Given the description of an element on the screen output the (x, y) to click on. 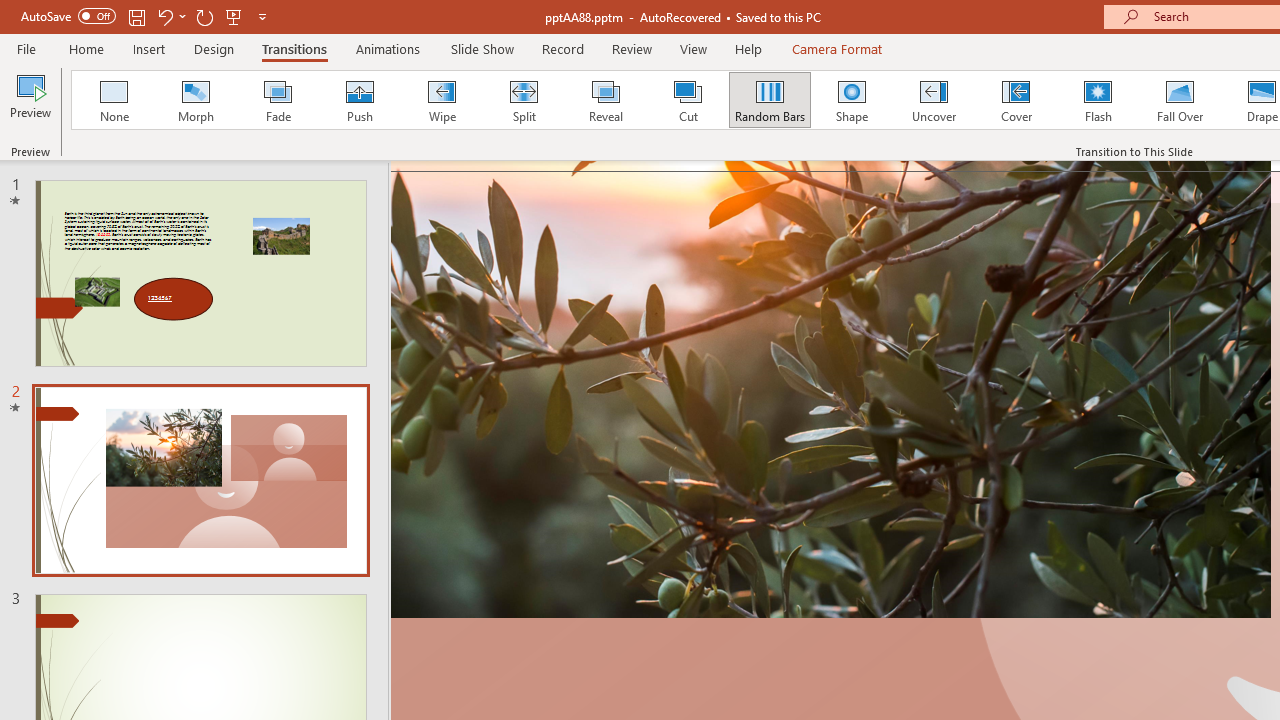
Random Bars (770, 100)
Morph (195, 100)
Flash (1098, 100)
Camera Format (836, 48)
Cover (1016, 100)
None (113, 100)
